Given the description of an element on the screen output the (x, y) to click on. 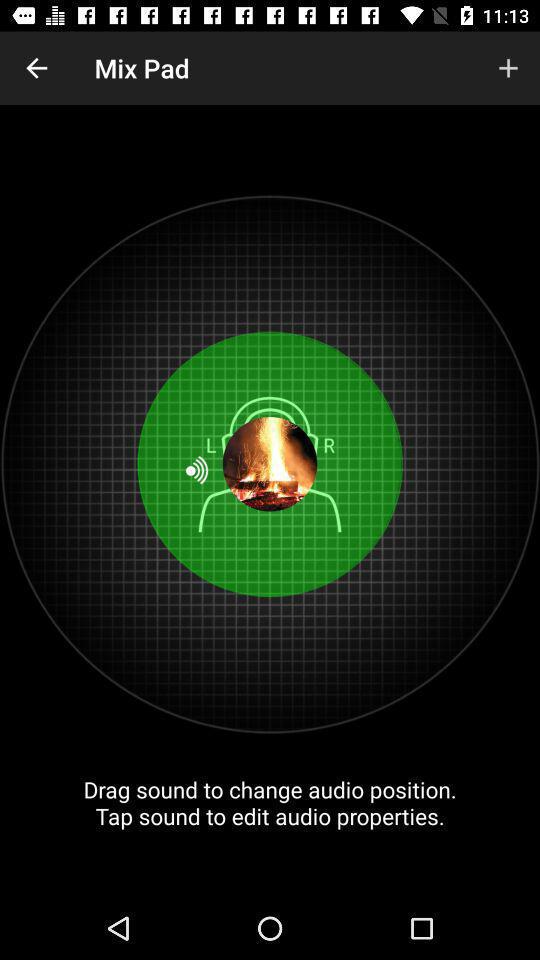
turn off item at the top right corner (508, 67)
